Given the description of an element on the screen output the (x, y) to click on. 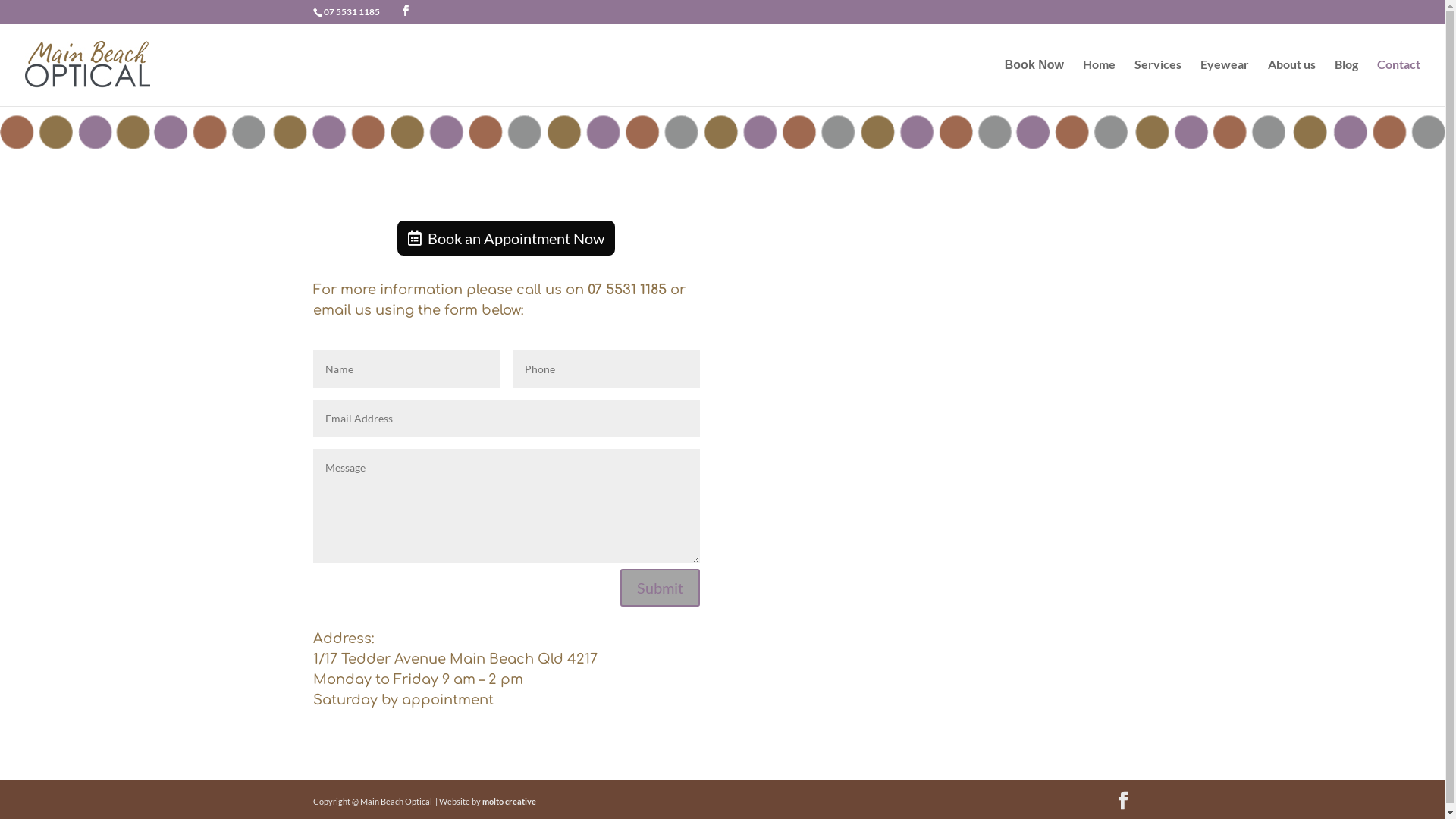
molto creative Element type: text (509, 801)
Book an Appointment Now Element type: text (505, 238)
Submit Element type: text (659, 587)
Book Now Element type: text (1033, 82)
Contact Element type: text (1398, 82)
Services Element type: text (1157, 82)
About us Element type: text (1291, 82)
07 5531 1185 Element type: text (351, 11)
Home Element type: text (1098, 82)
Blog Element type: text (1346, 82)
Eyewear Element type: text (1224, 82)
